Given the description of an element on the screen output the (x, y) to click on. 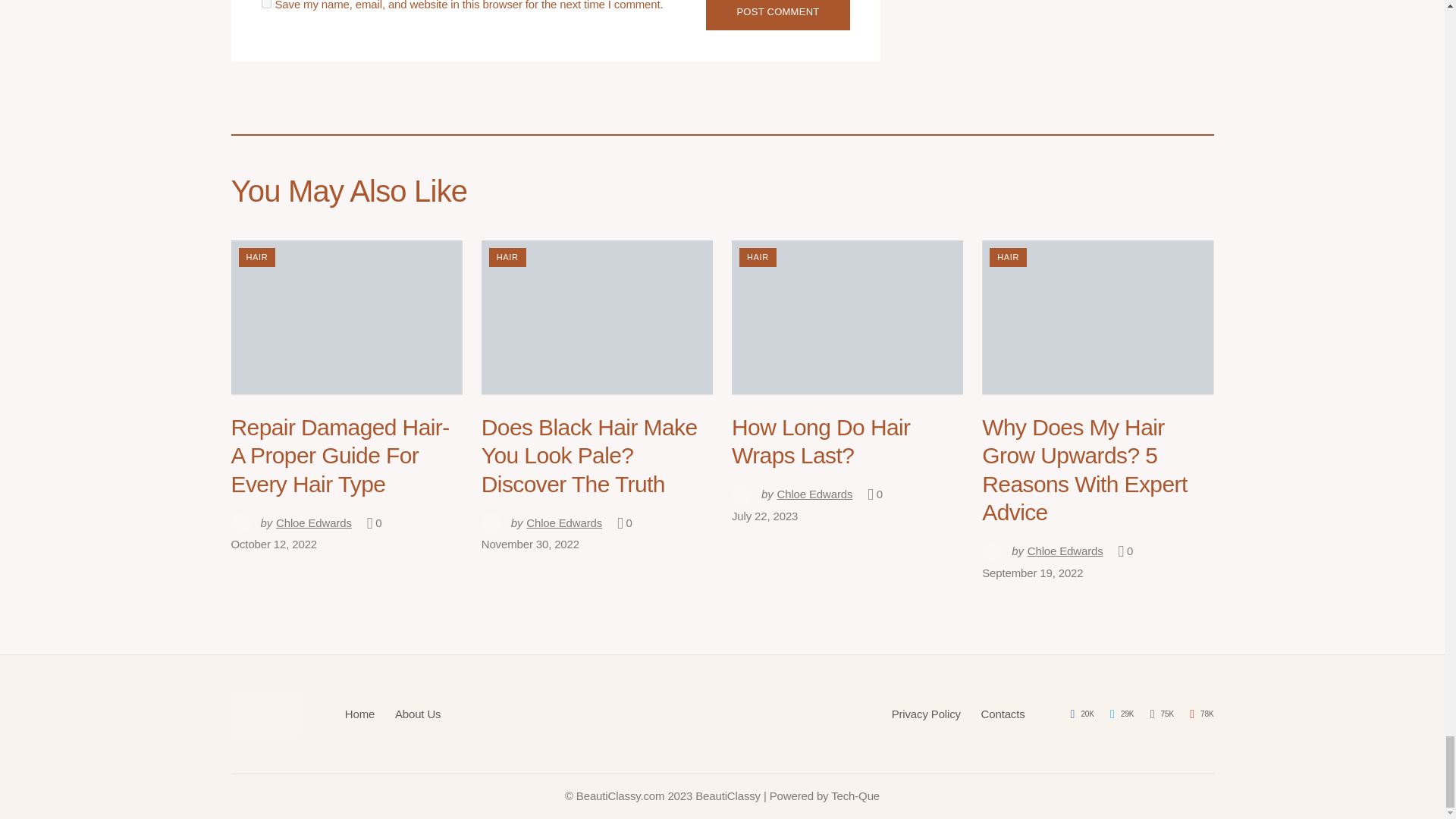
yes (265, 4)
View all posts by Chloe Edwards (1041, 551)
Post Comment (777, 15)
View all posts by Chloe Edwards (290, 523)
View all posts by Chloe Edwards (791, 494)
View all posts by Chloe Edwards (541, 523)
